Given the description of an element on the screen output the (x, y) to click on. 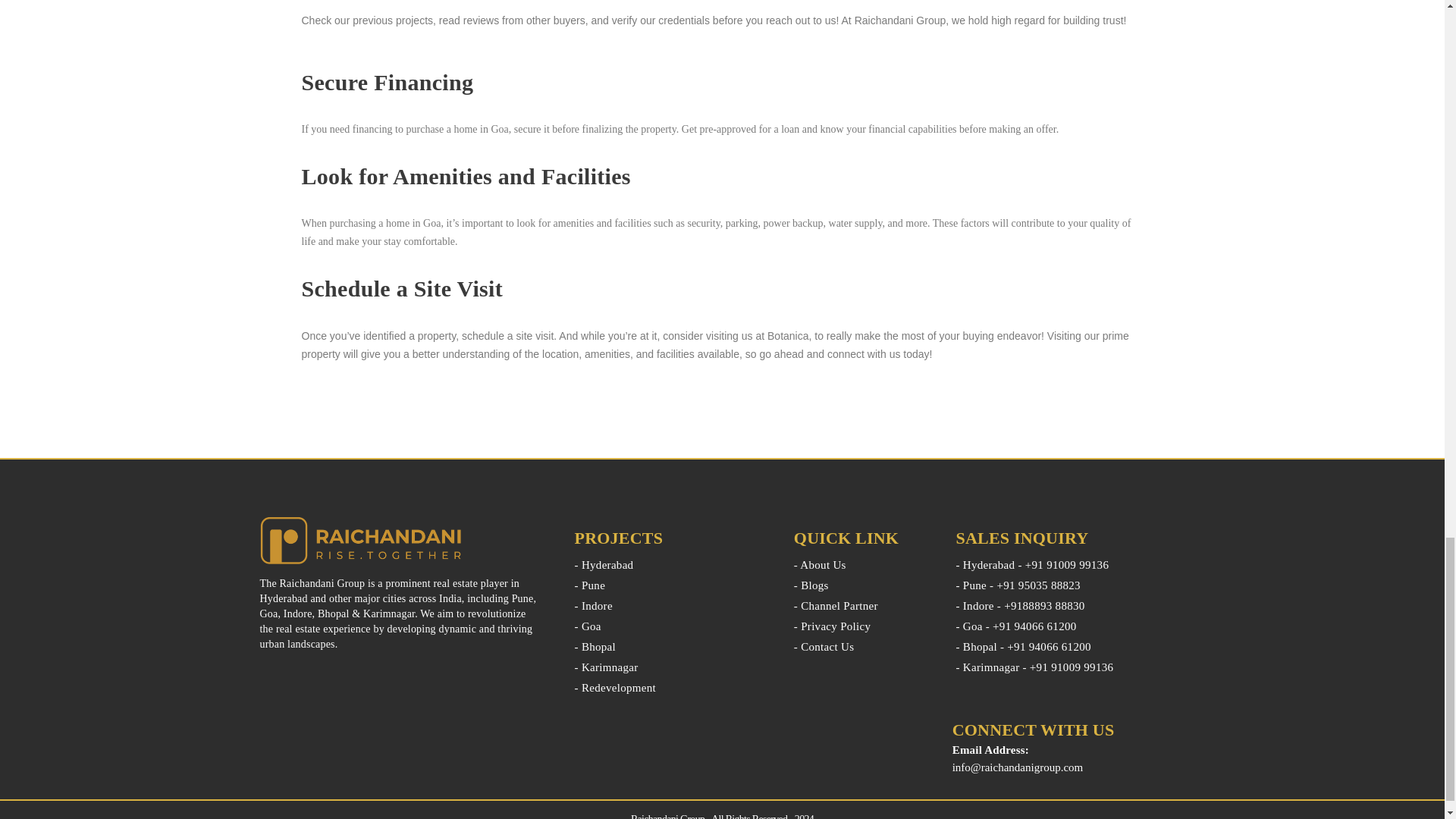
- Privacy Policy (863, 626)
- Karimnagar (673, 667)
- Redevelopment (673, 687)
- Pune (673, 585)
- Indore (673, 606)
- Blogs (863, 585)
- Goa (673, 626)
- Channel Partner (863, 606)
- About Us (863, 565)
- Bhopal (673, 647)
- Contact Us (863, 647)
- Hyderabad (673, 565)
